Given the description of an element on the screen output the (x, y) to click on. 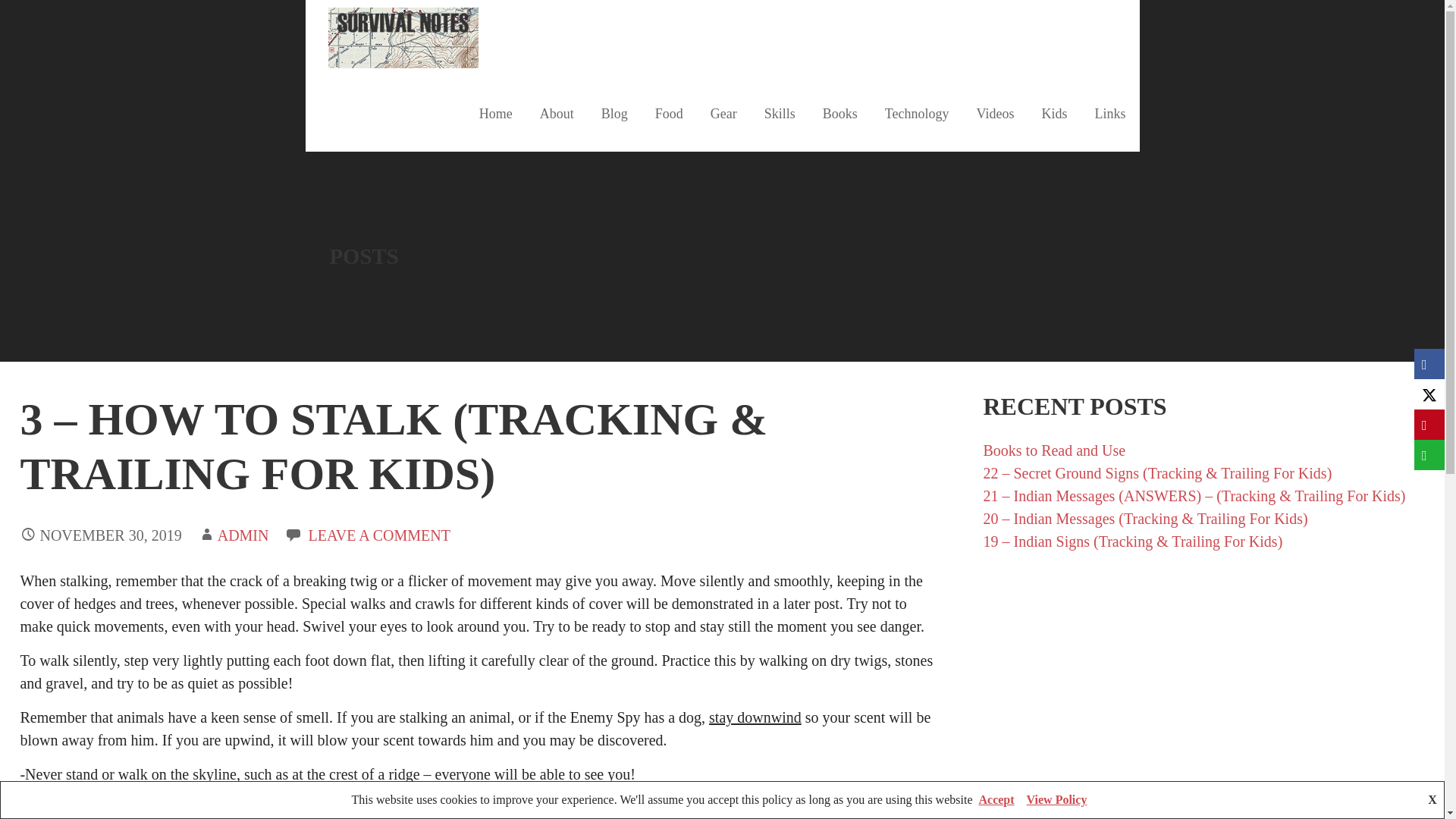
Posts by admin (242, 535)
Technology (916, 113)
Advertisement (1202, 681)
SURVIVAL NOTES (414, 86)
